Given the description of an element on the screen output the (x, y) to click on. 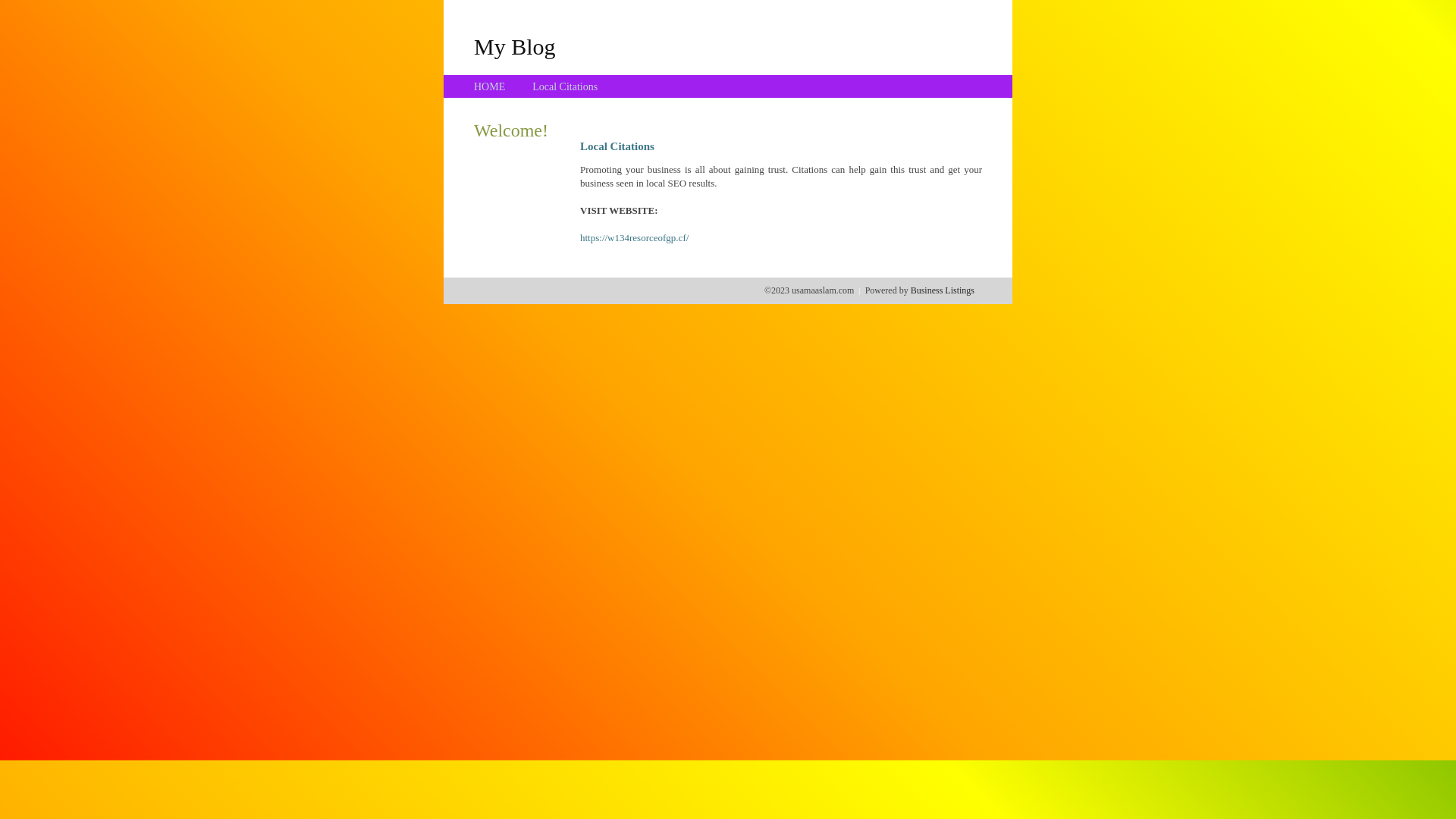
Local Citations Element type: text (564, 86)
https://w134resorceofgp.cf/ Element type: text (634, 237)
My Blog Element type: text (514, 46)
HOME Element type: text (489, 86)
Business Listings Element type: text (942, 290)
